Given the description of an element on the screen output the (x, y) to click on. 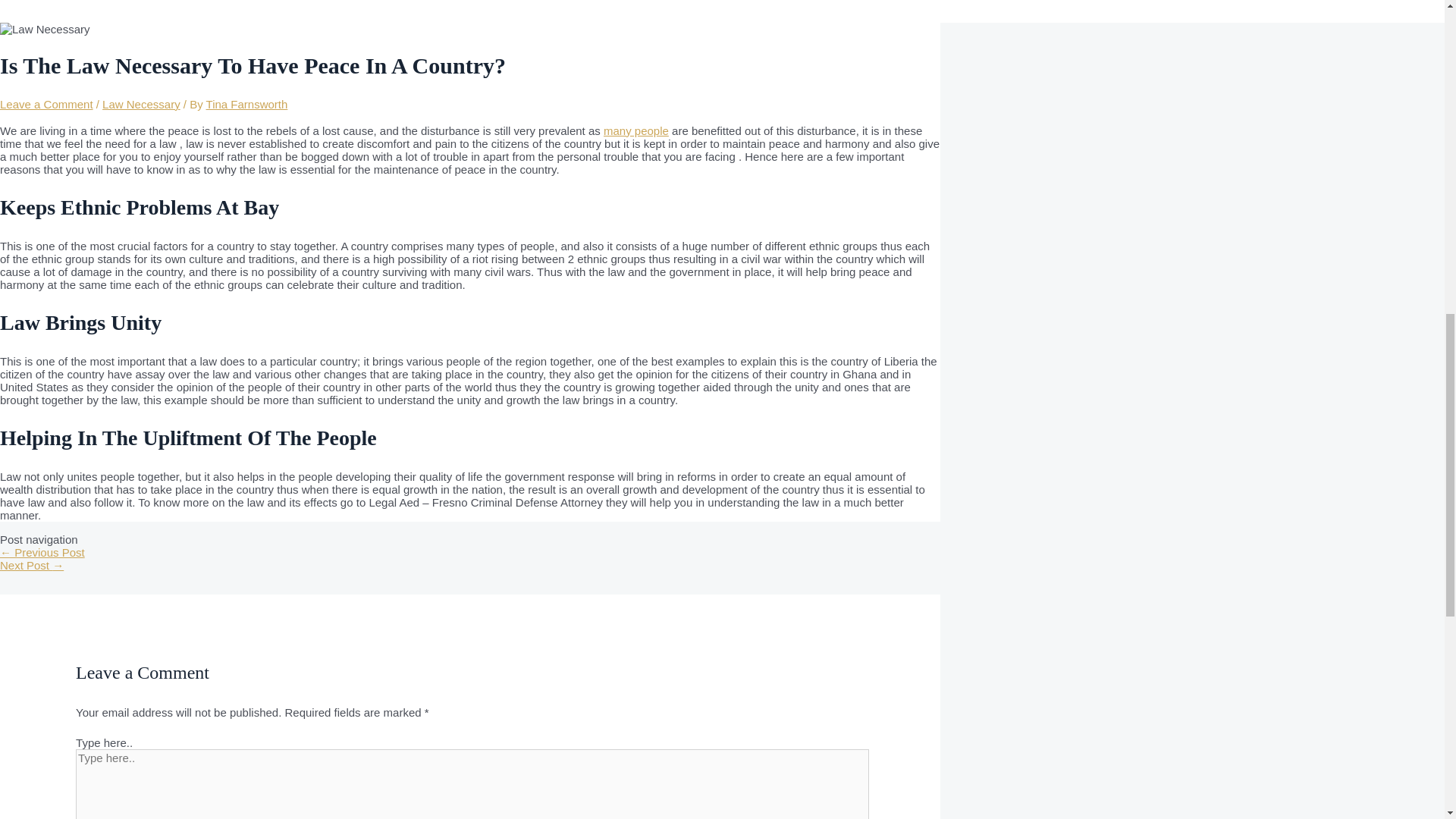
many people (636, 130)
Law Necessary (140, 103)
Leave a Comment (46, 103)
Tina Farnsworth (247, 103)
Contact Us (117, 5)
View all posts by Tina Farnsworth (247, 103)
